Given the description of an element on the screen output the (x, y) to click on. 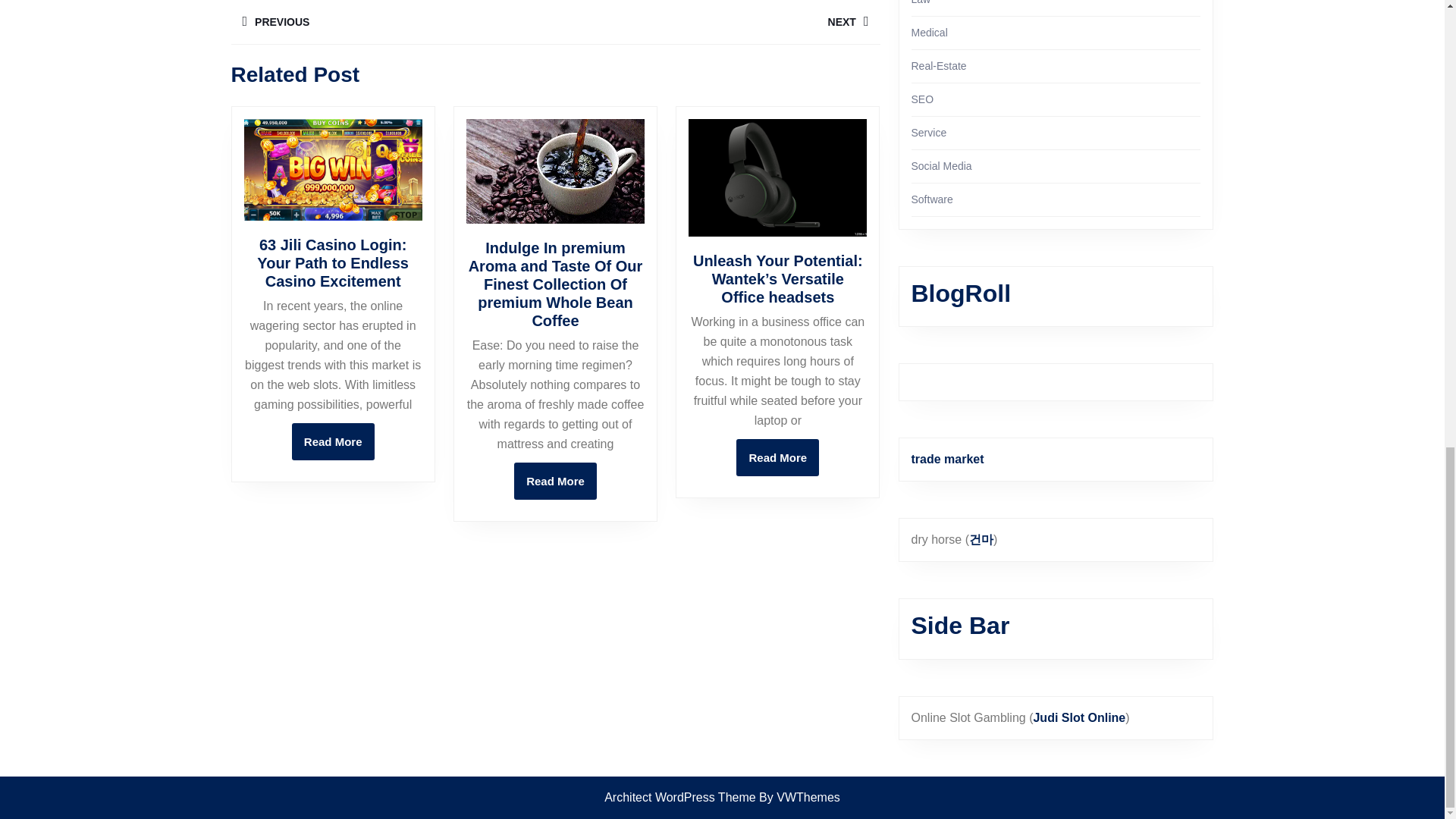
Law (554, 480)
